Given the description of an element on the screen output the (x, y) to click on. 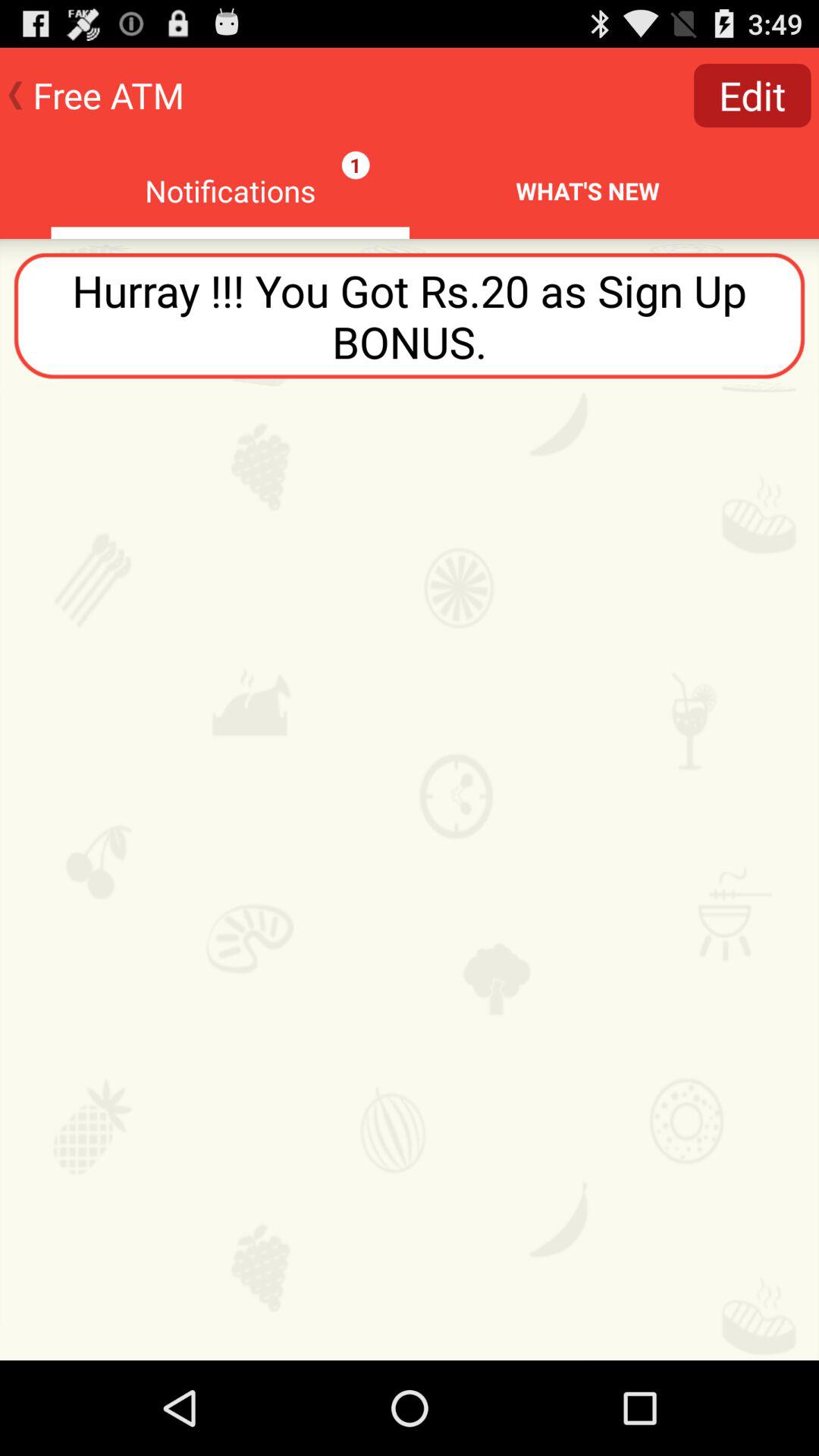
jump to the    edit    item (752, 95)
